Given the description of an element on the screen output the (x, y) to click on. 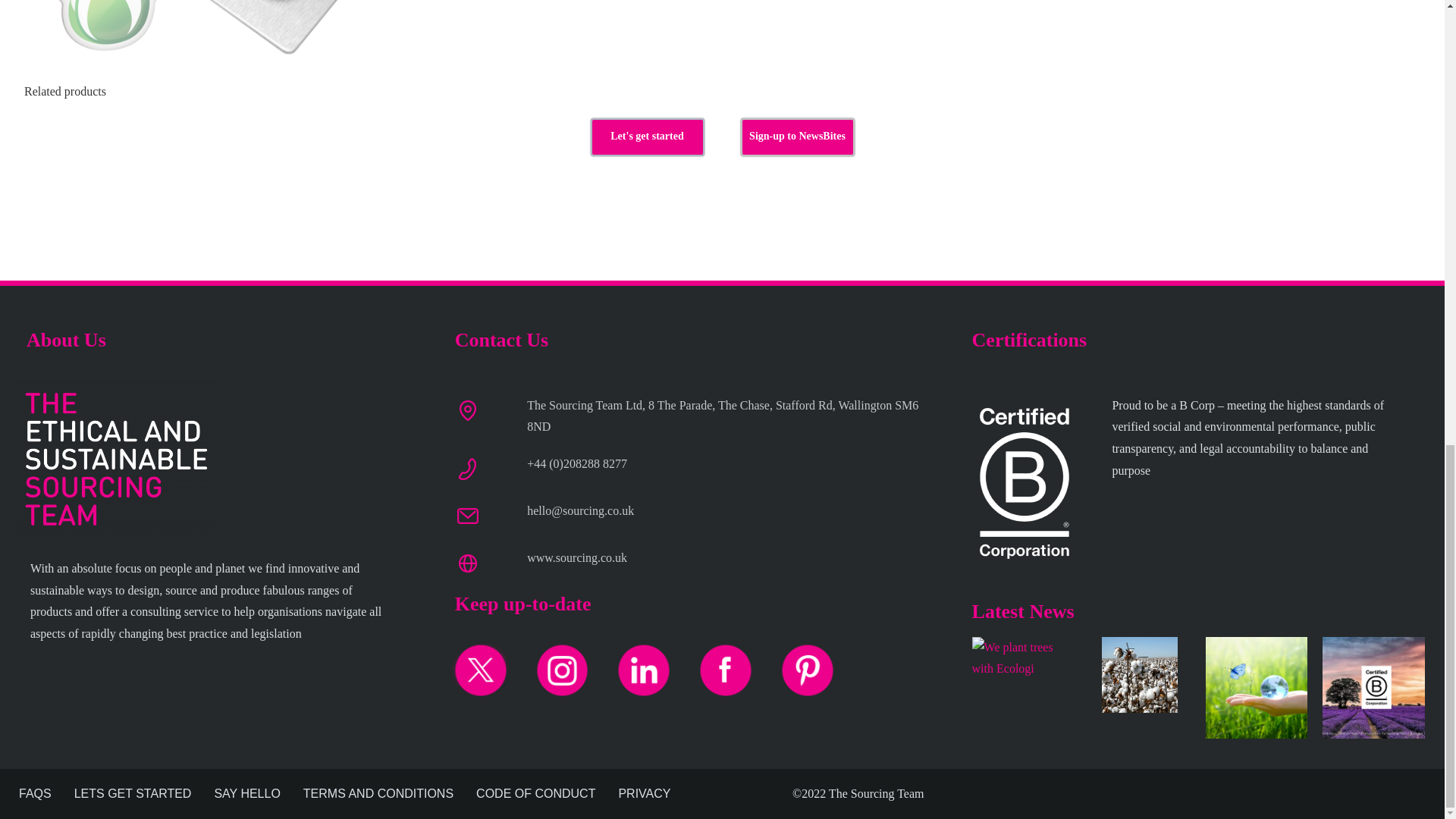
Sign-up to NewsBites (796, 136)
Sign-up to NewsBites (796, 136)
home-page-cotton-latest-news (1139, 674)
Let's get started (646, 136)
Let's get started (646, 136)
View our Ecologi profile (1023, 675)
